Given the description of an element on the screen output the (x, y) to click on. 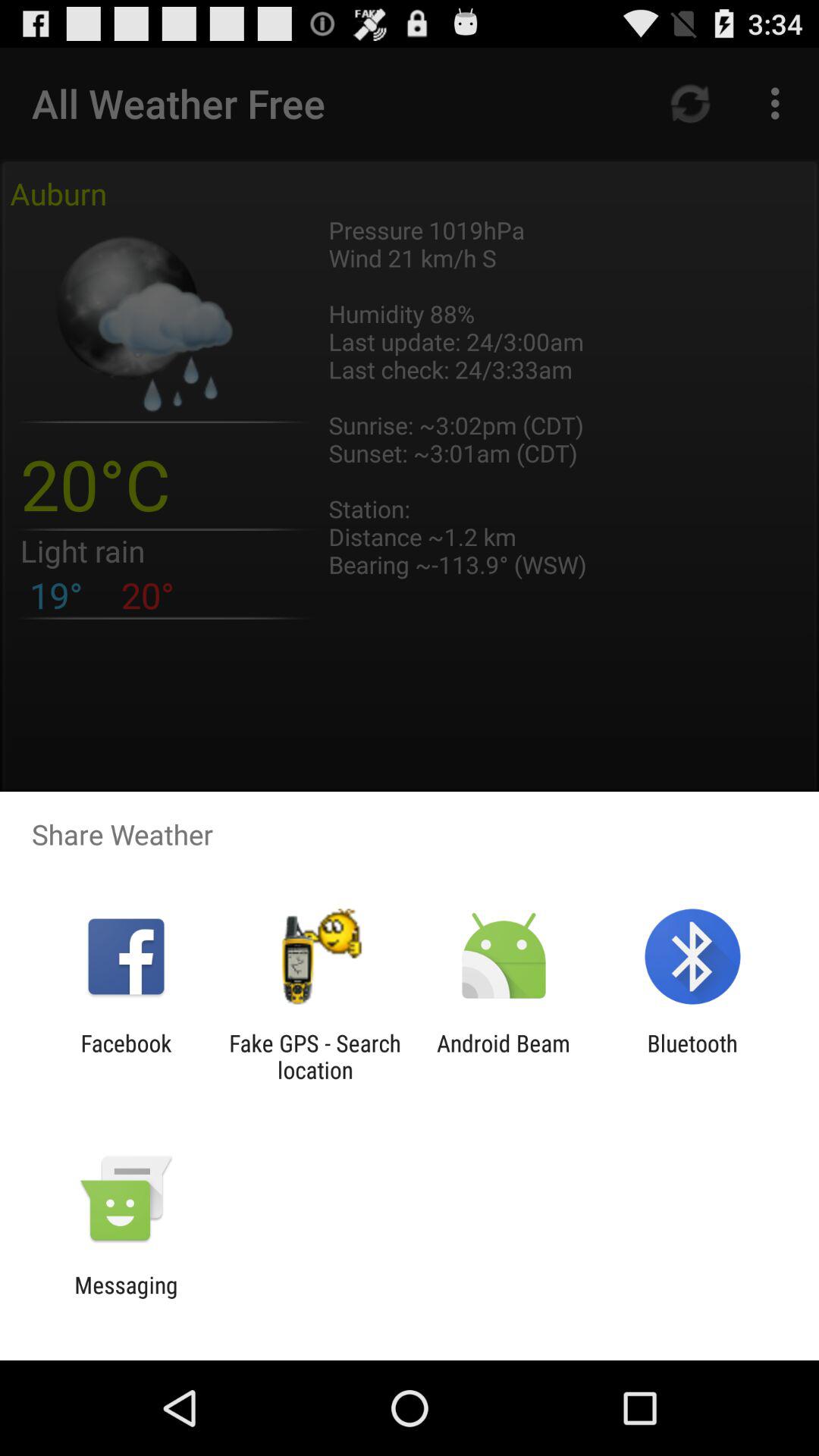
tap the icon next to android beam item (692, 1056)
